Given the description of an element on the screen output the (x, y) to click on. 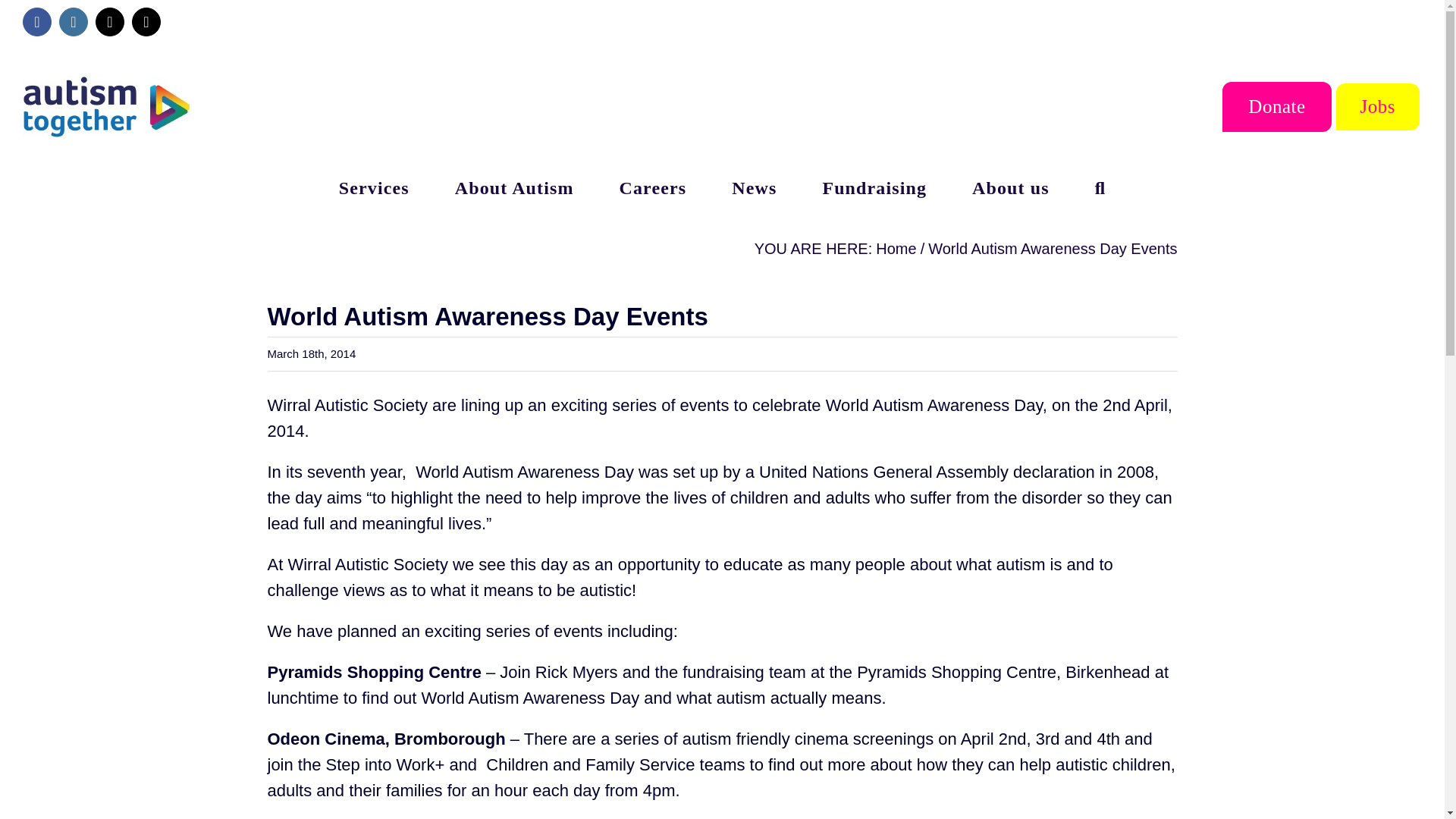
Services (373, 187)
Search (1099, 187)
Donate (1276, 106)
Fundraising (874, 187)
Facebook (36, 21)
Services (373, 187)
Jobs (1377, 106)
X (109, 21)
Accessibility Tools (19, 95)
Instagram (73, 21)
